Given the description of an element on the screen output the (x, y) to click on. 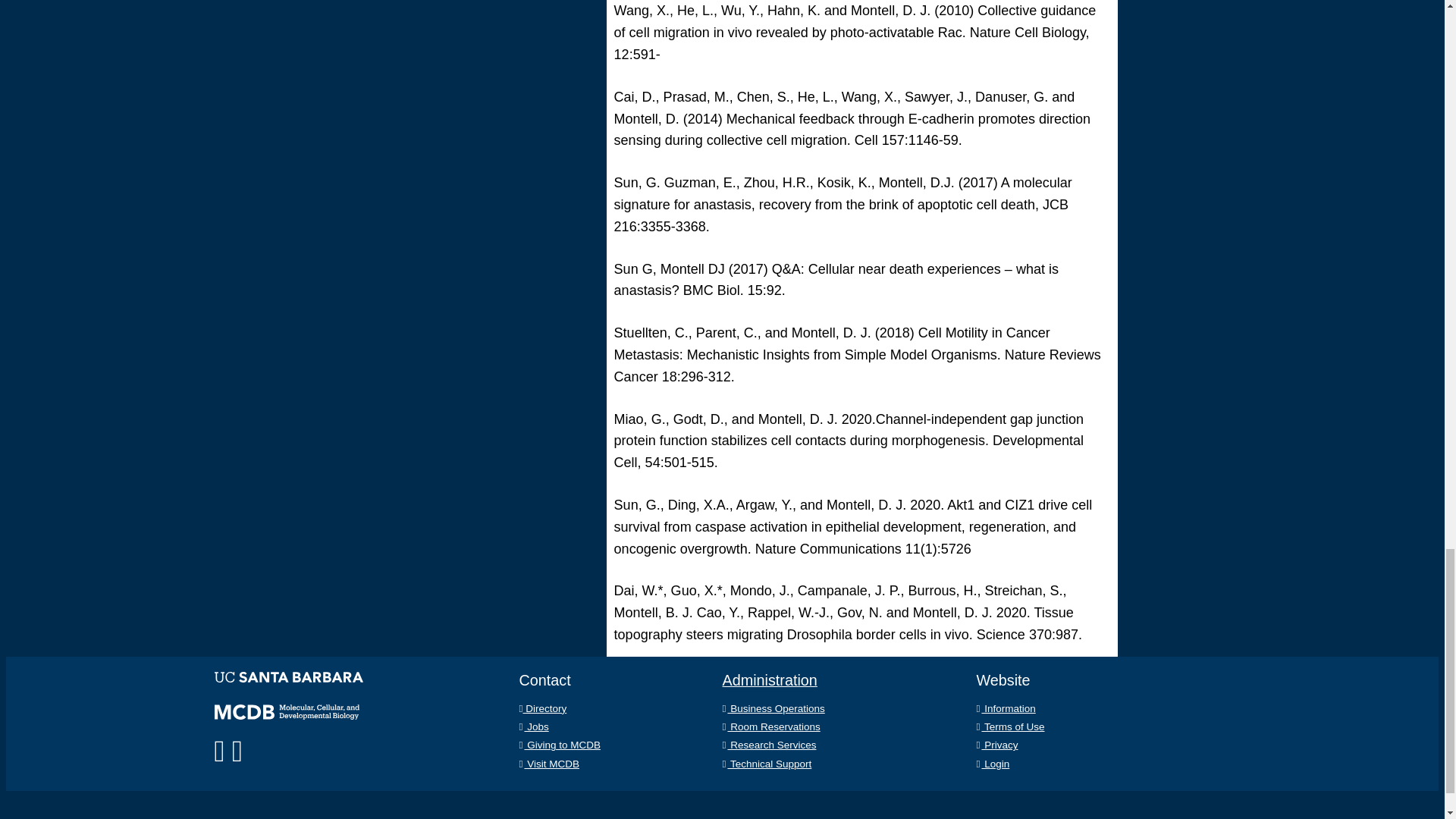
Information (1005, 708)
Room Reservations (770, 726)
Administration (769, 679)
Business Operations (773, 708)
Directory (542, 708)
Login (993, 763)
Technical Support (766, 763)
Jobs (533, 726)
Privacy (996, 745)
Giving to MCDB (558, 745)
Visit MCDB (548, 763)
Research Services (768, 745)
Terms of Use (1010, 726)
